Given the description of an element on the screen output the (x, y) to click on. 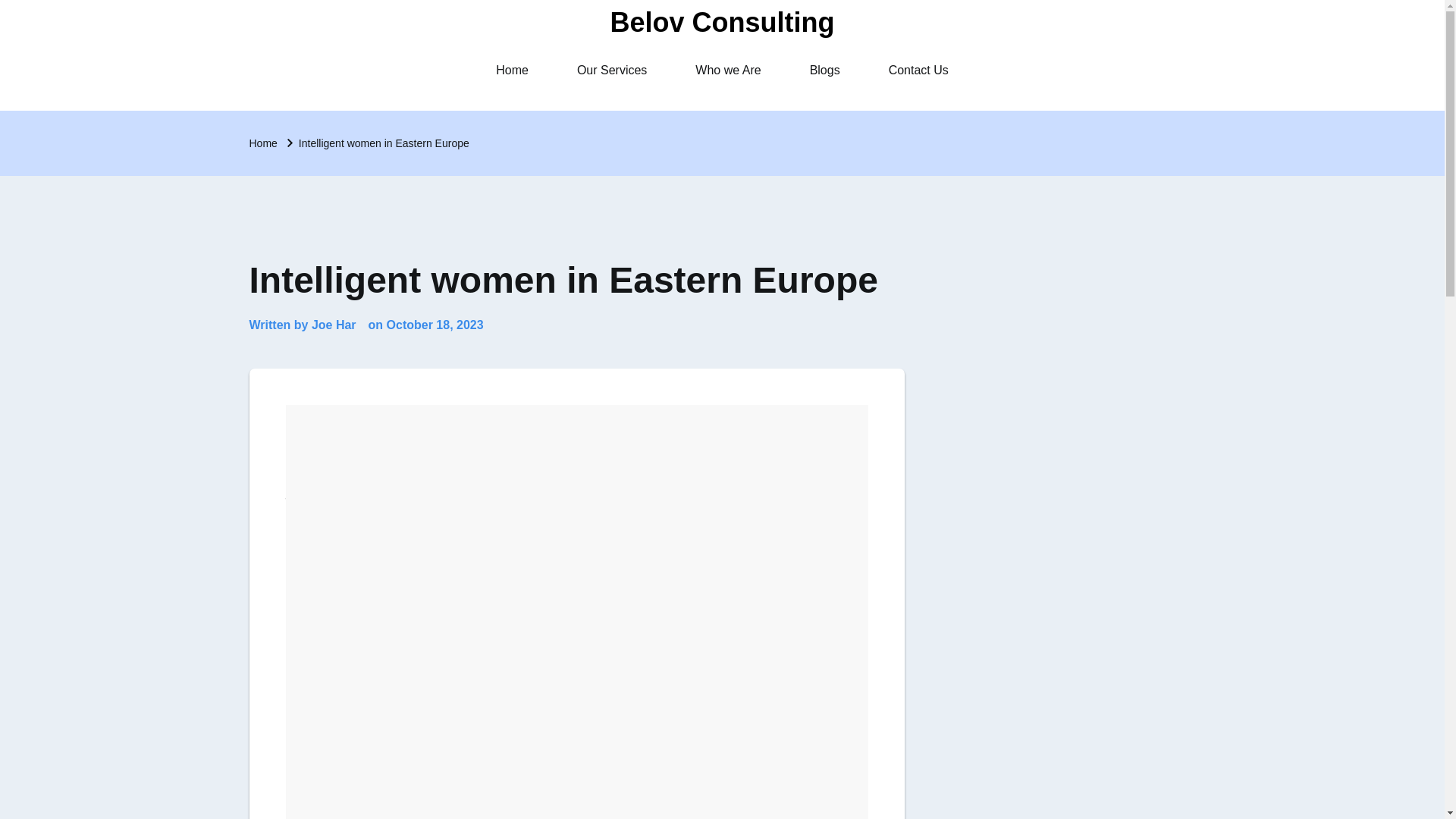
Contact Us (918, 70)
Our Services (612, 70)
Home (512, 70)
Blogs (825, 70)
Belov Consulting (722, 21)
Who we Are (727, 70)
